Given the description of an element on the screen output the (x, y) to click on. 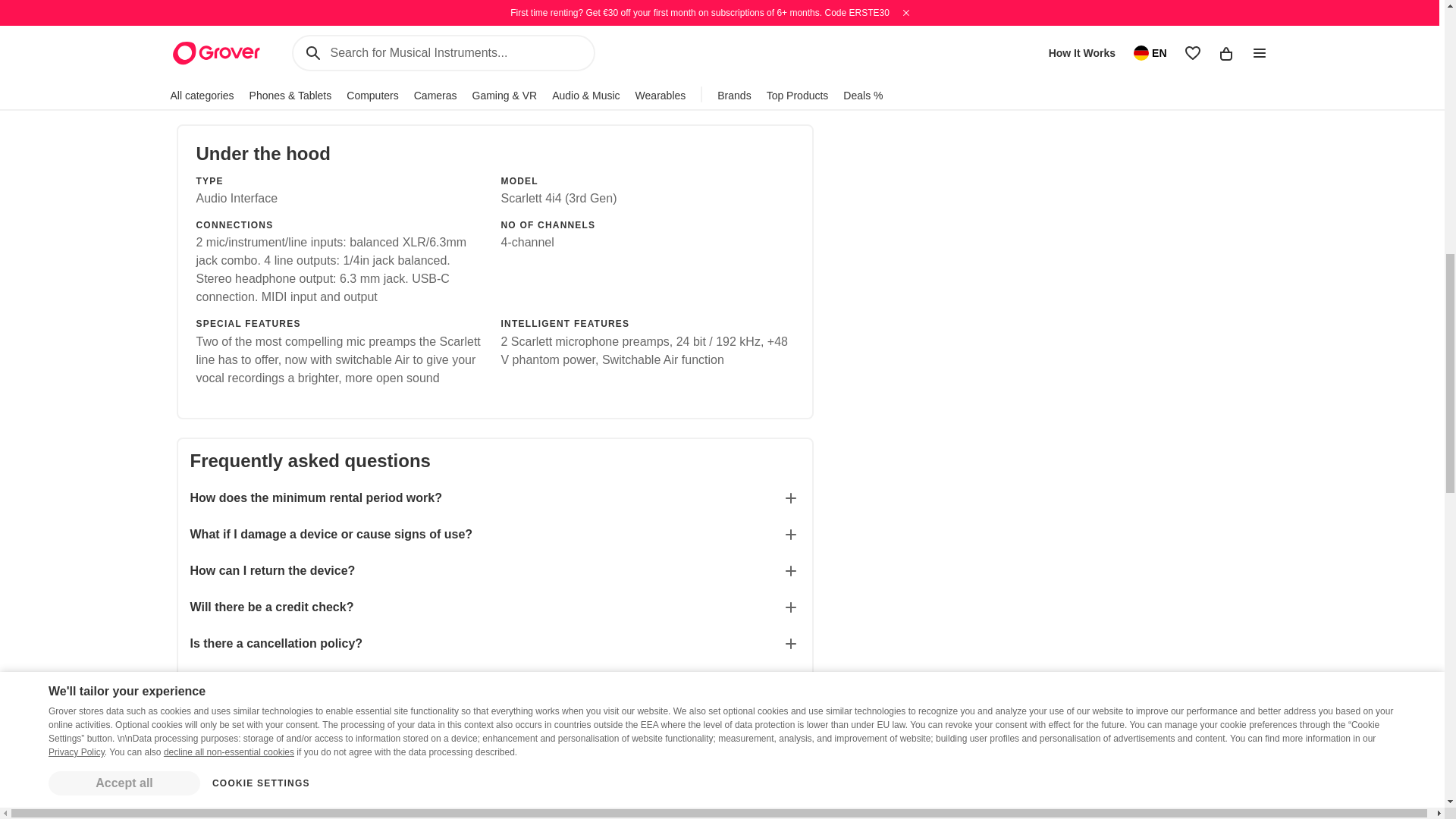
Learn more (653, 39)
Learn more (304, 39)
Learn more (493, 39)
